Given the description of an element on the screen output the (x, y) to click on. 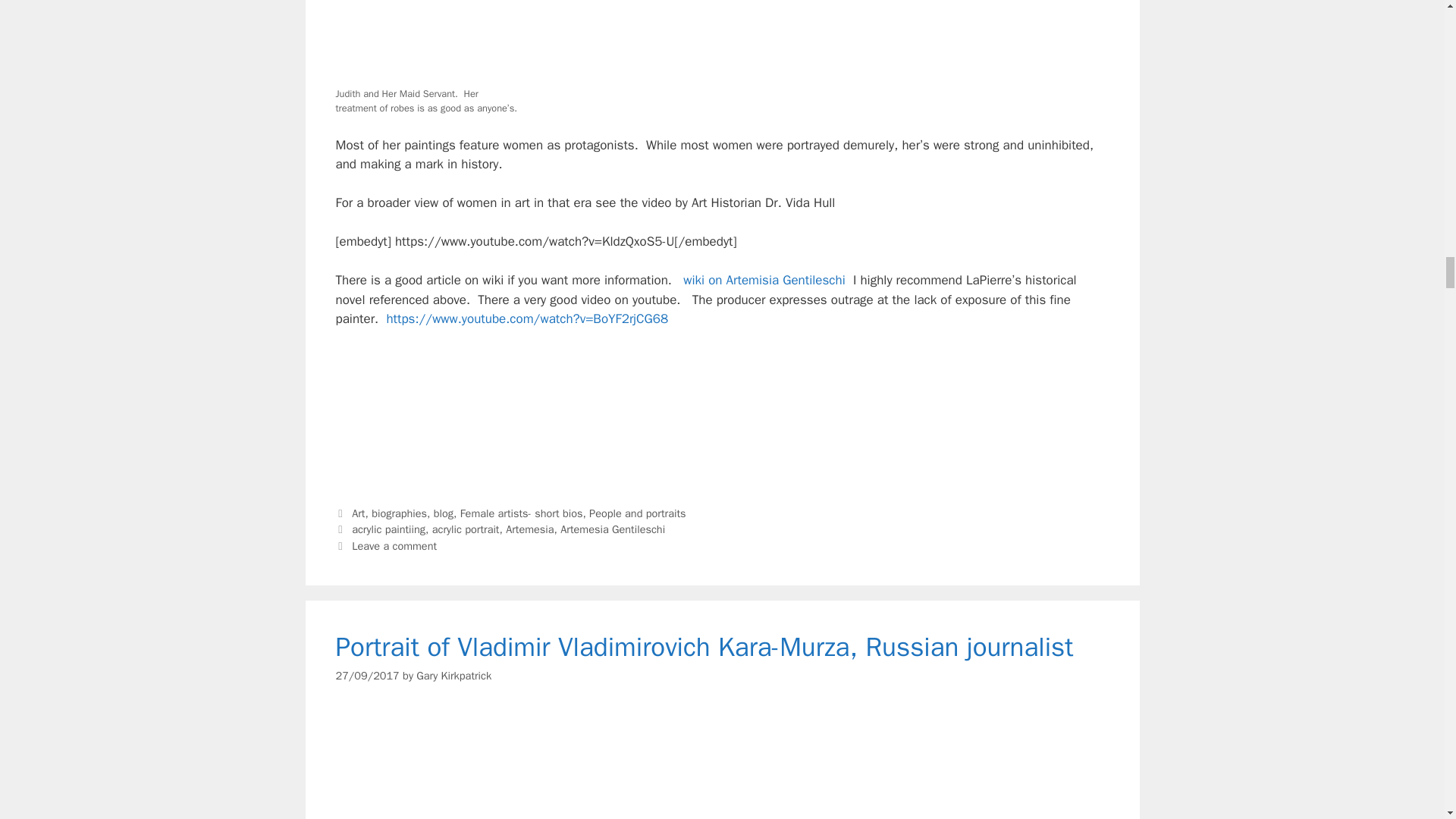
View all posts by Gary Kirkpatrick (454, 676)
